Given the description of an element on the screen output the (x, y) to click on. 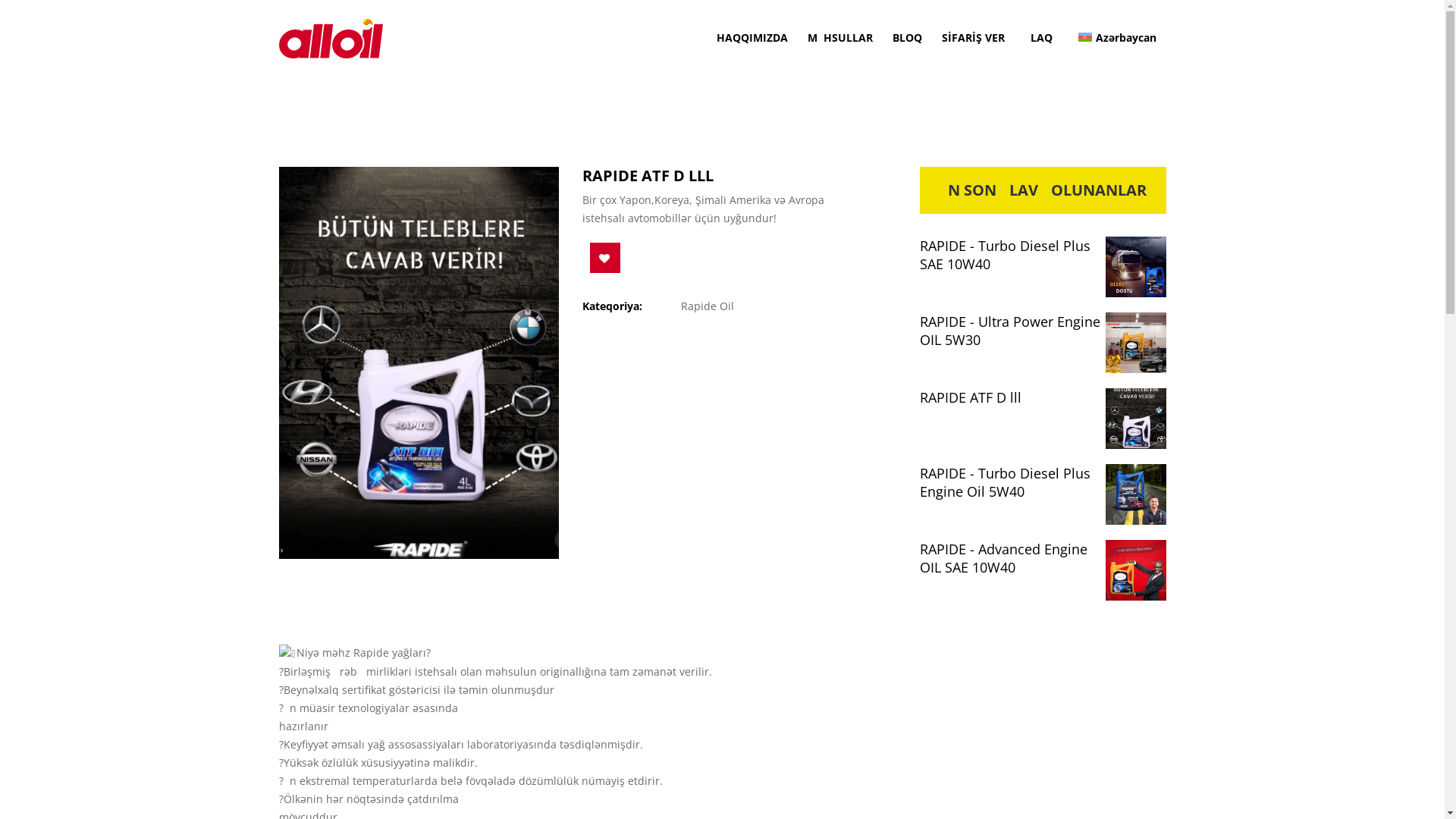
RAPIDE - Turbo Diesel Plus SAE 10W40 Element type: text (1042, 254)
RAPIDE - Advanced Engine OIL SAE 10W40 Element type: text (1042, 557)
Add to Wishlist Element type: text (604, 257)
Oil Market Element type: hover (330, 37)
2022-07-21_21-51-11 Element type: hover (419, 362)
RAPIDE - Turbo Diesel Plus Engine Oil 5W40 Element type: text (1042, 482)
BLOQ Element type: text (906, 37)
HAQQIMIZDA Element type: text (751, 37)
Rapide Oil Element type: text (708, 305)
RAPIDE - Ultra Power Engine OIL 5W30 Element type: text (1042, 330)
RAPIDE ATF D lll Element type: text (1042, 397)
